Given the description of an element on the screen output the (x, y) to click on. 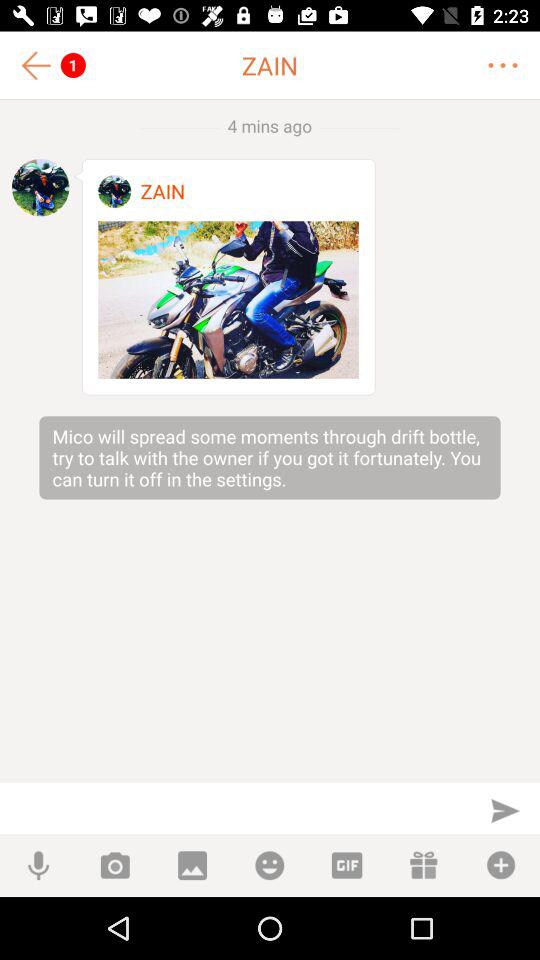
go to profile image (114, 191)
